Given the description of an element on the screen output the (x, y) to click on. 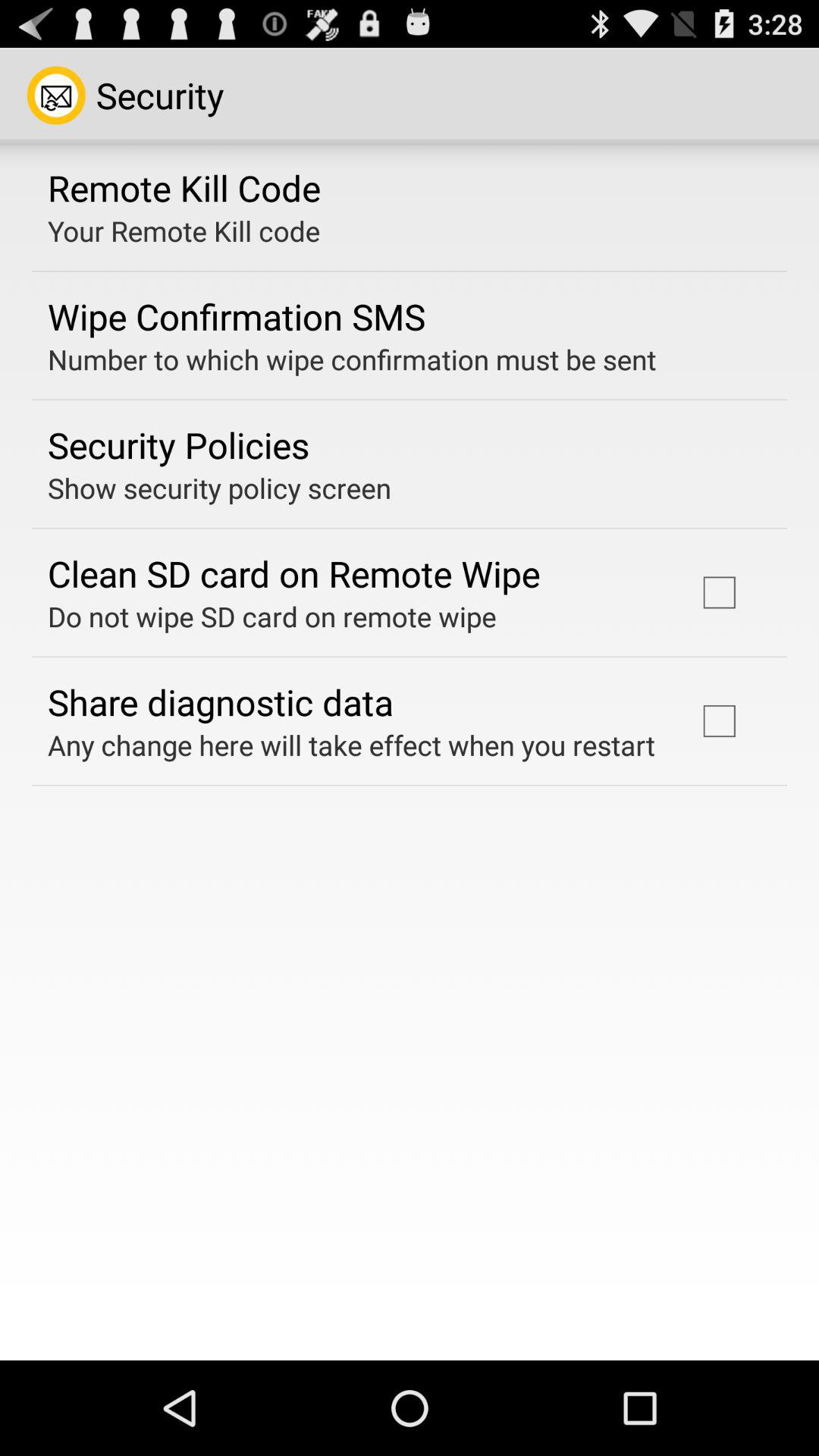
flip to the number to which item (351, 359)
